Given the description of an element on the screen output the (x, y) to click on. 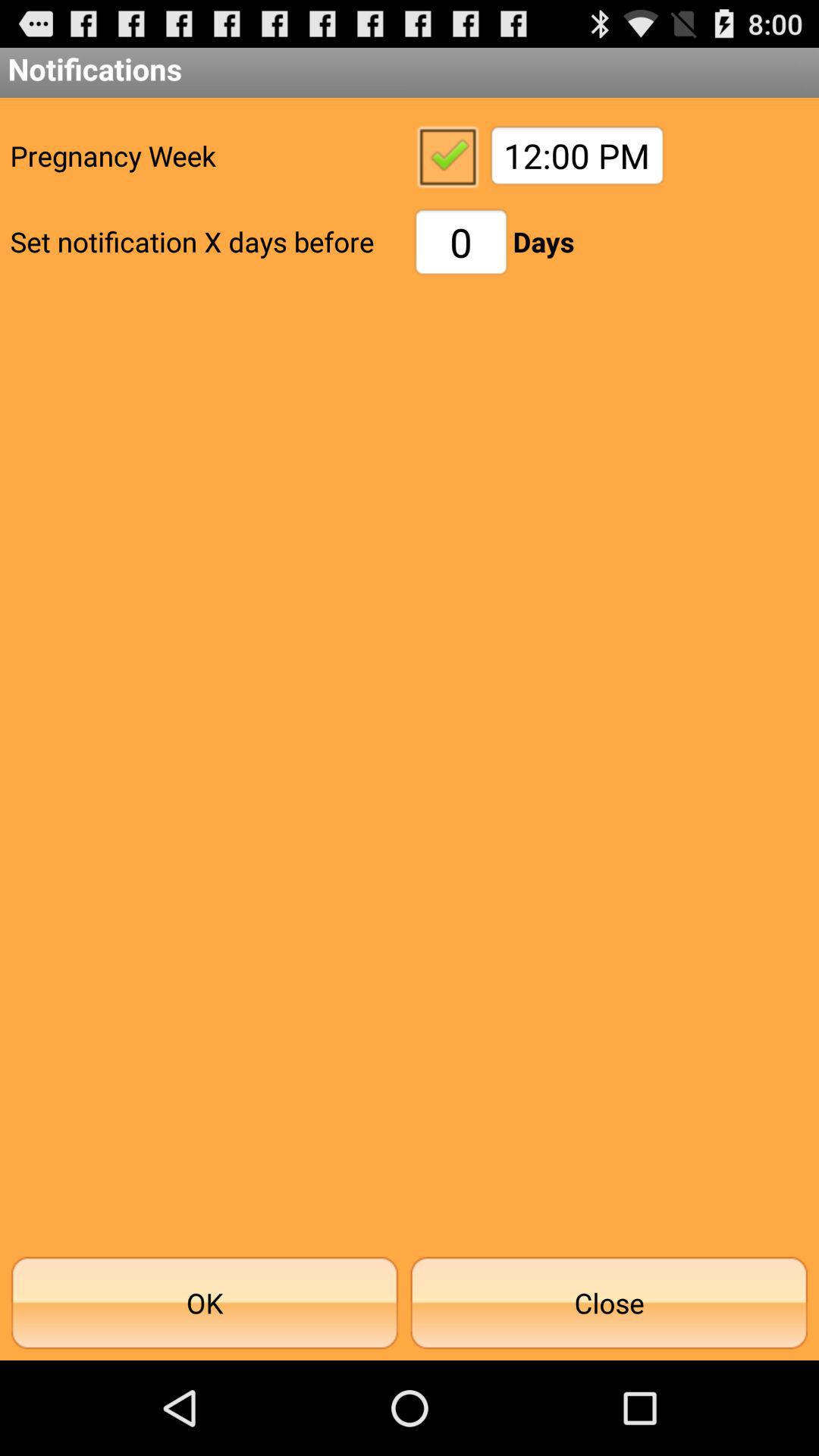
jump to close (608, 1302)
